Given the description of an element on the screen output the (x, y) to click on. 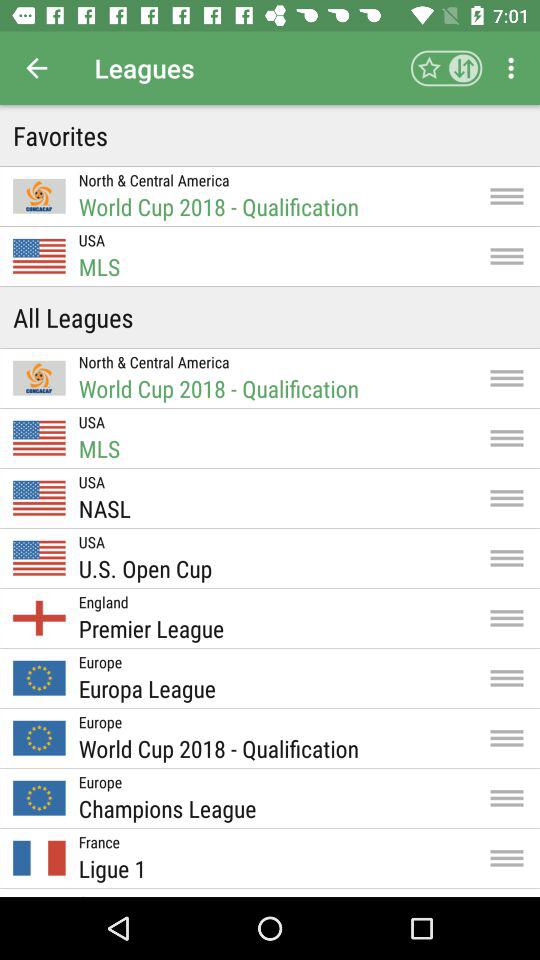
press the item to the left of the leagues icon (36, 68)
